Given the description of an element on the screen output the (x, y) to click on. 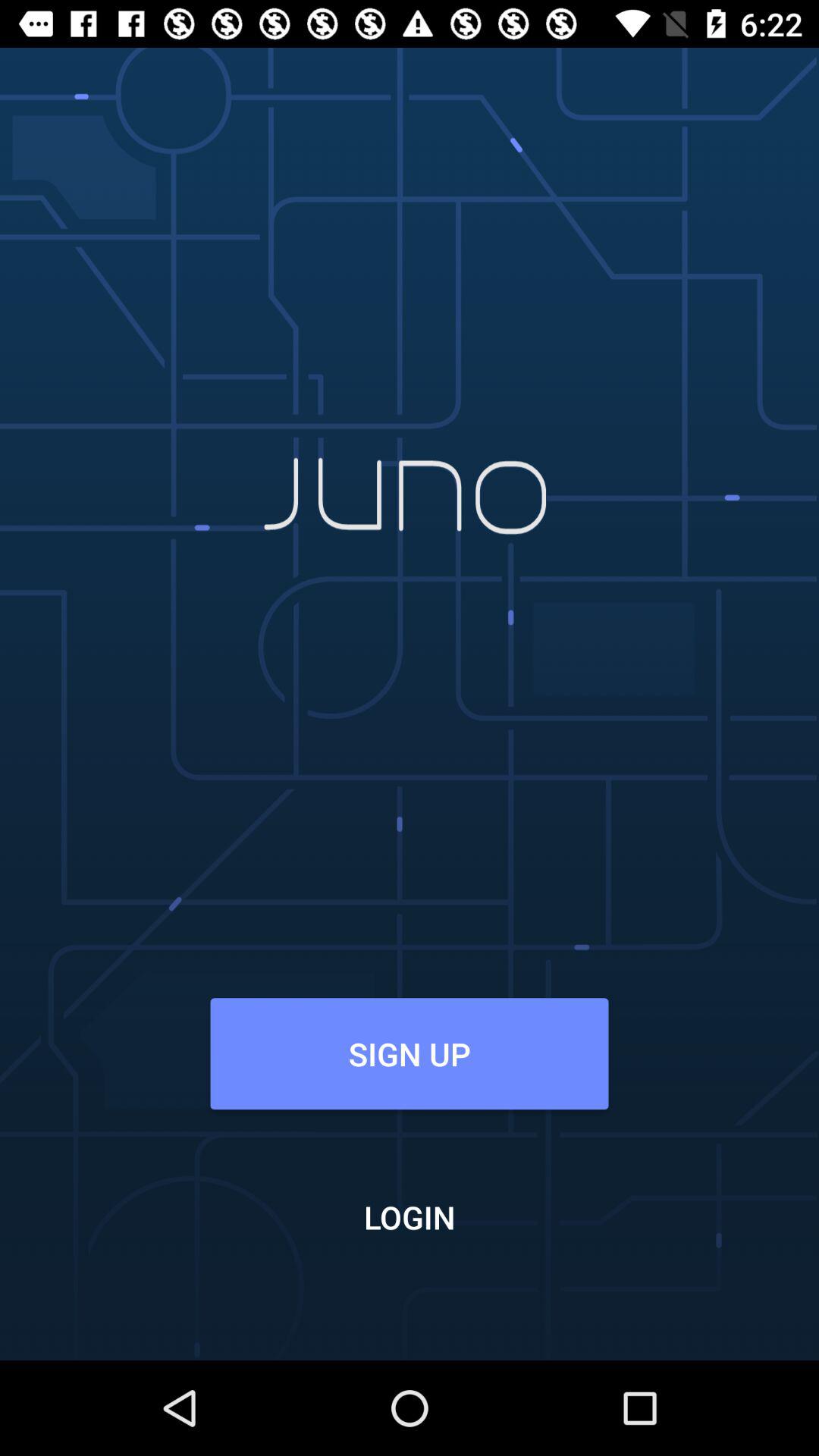
press item above the login item (409, 1053)
